Given the description of an element on the screen output the (x, y) to click on. 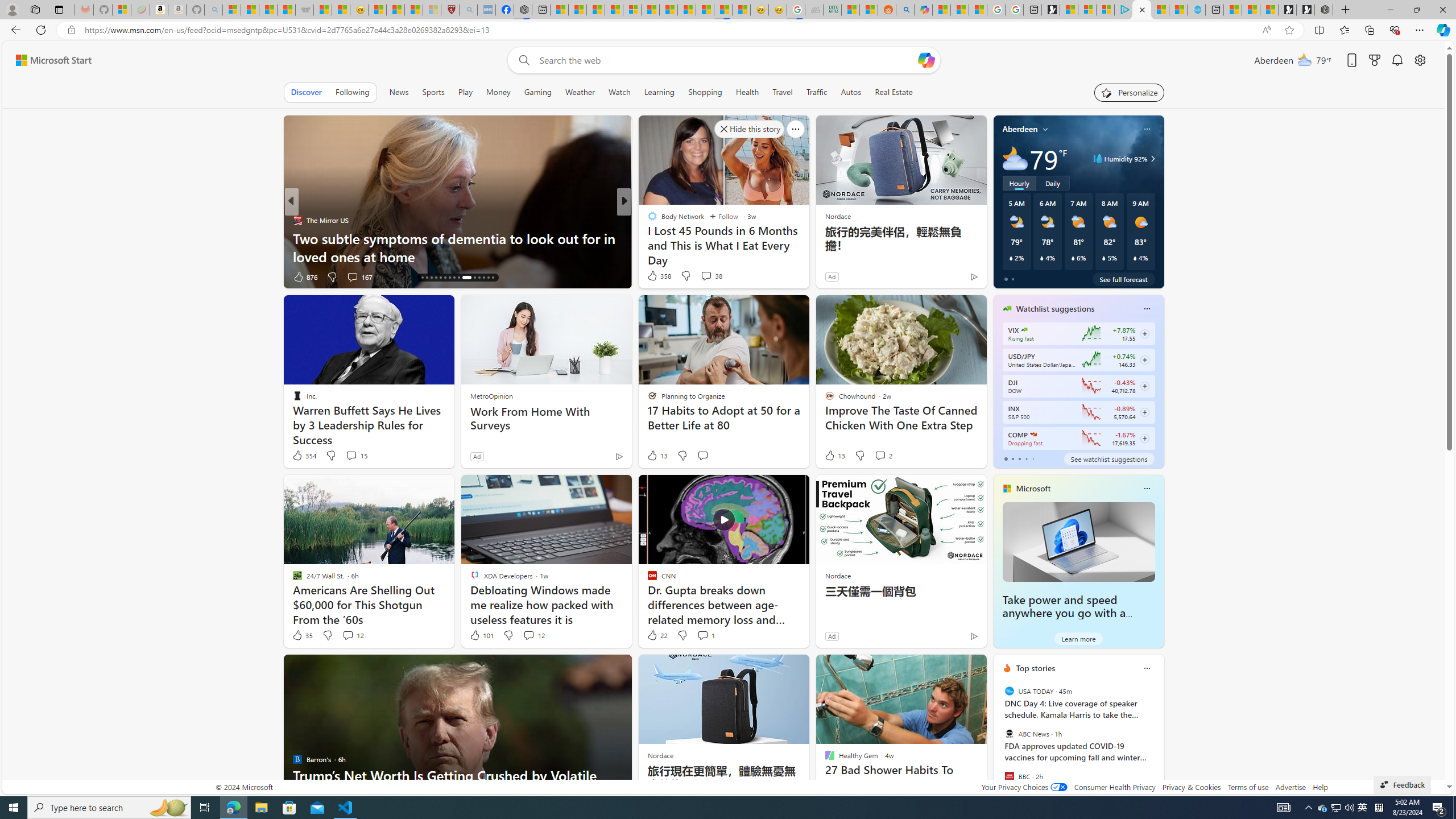
See watchlist suggestions (1108, 459)
Nordace (659, 755)
8 proven ways to slow down biological aging (807, 256)
Start the conversation (703, 455)
View comments 12 Comment (528, 635)
Enter your search term (726, 59)
Money (498, 92)
MarketBeat (647, 238)
Feedback (1402, 784)
Play (465, 92)
Terms of use (1247, 786)
See more (972, 668)
AutomationID: tab-28 (483, 277)
Moneywise (647, 219)
